Given the description of an element on the screen output the (x, y) to click on. 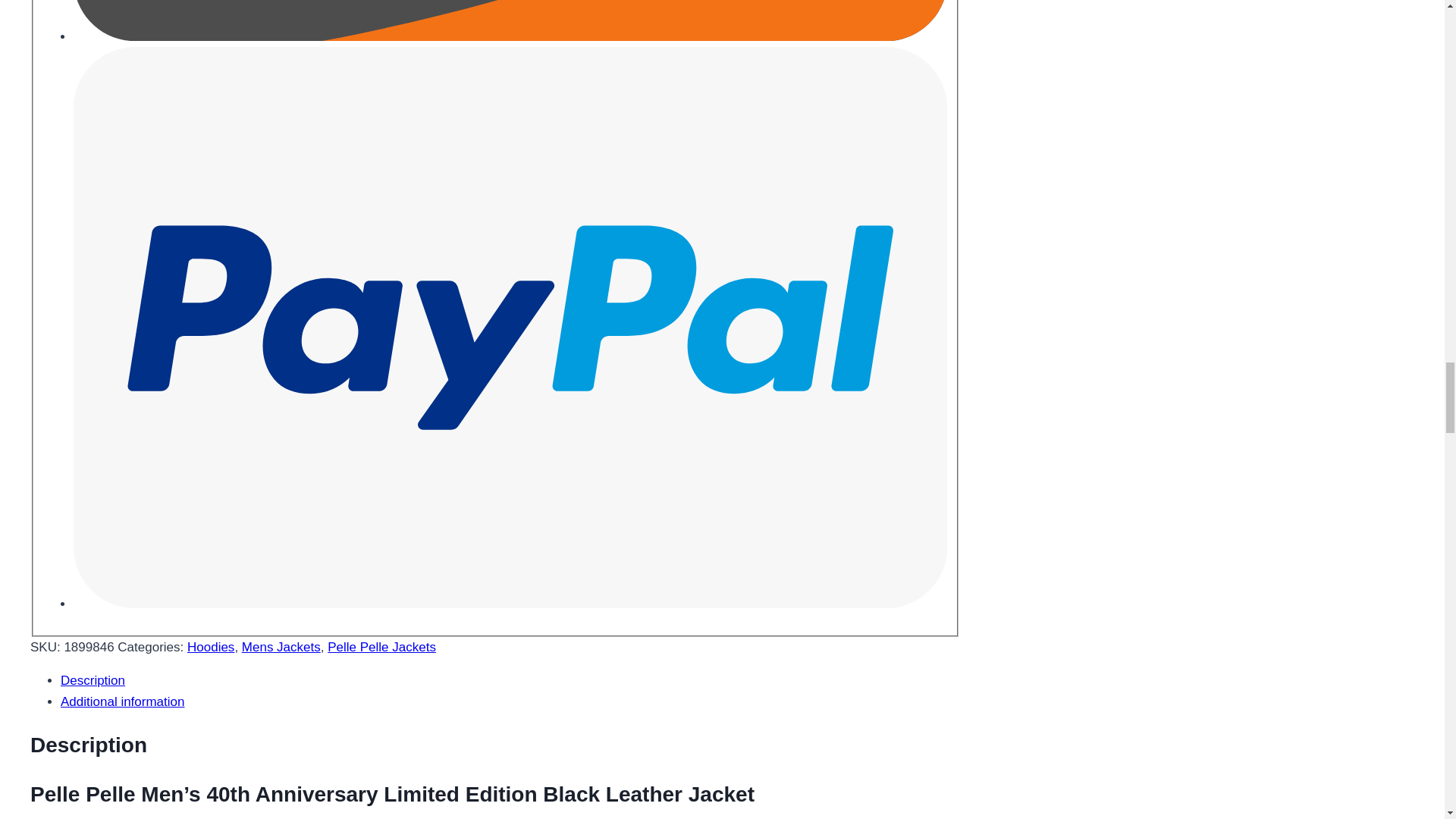
Discover Card (510, 20)
